Given the description of an element on the screen output the (x, y) to click on. 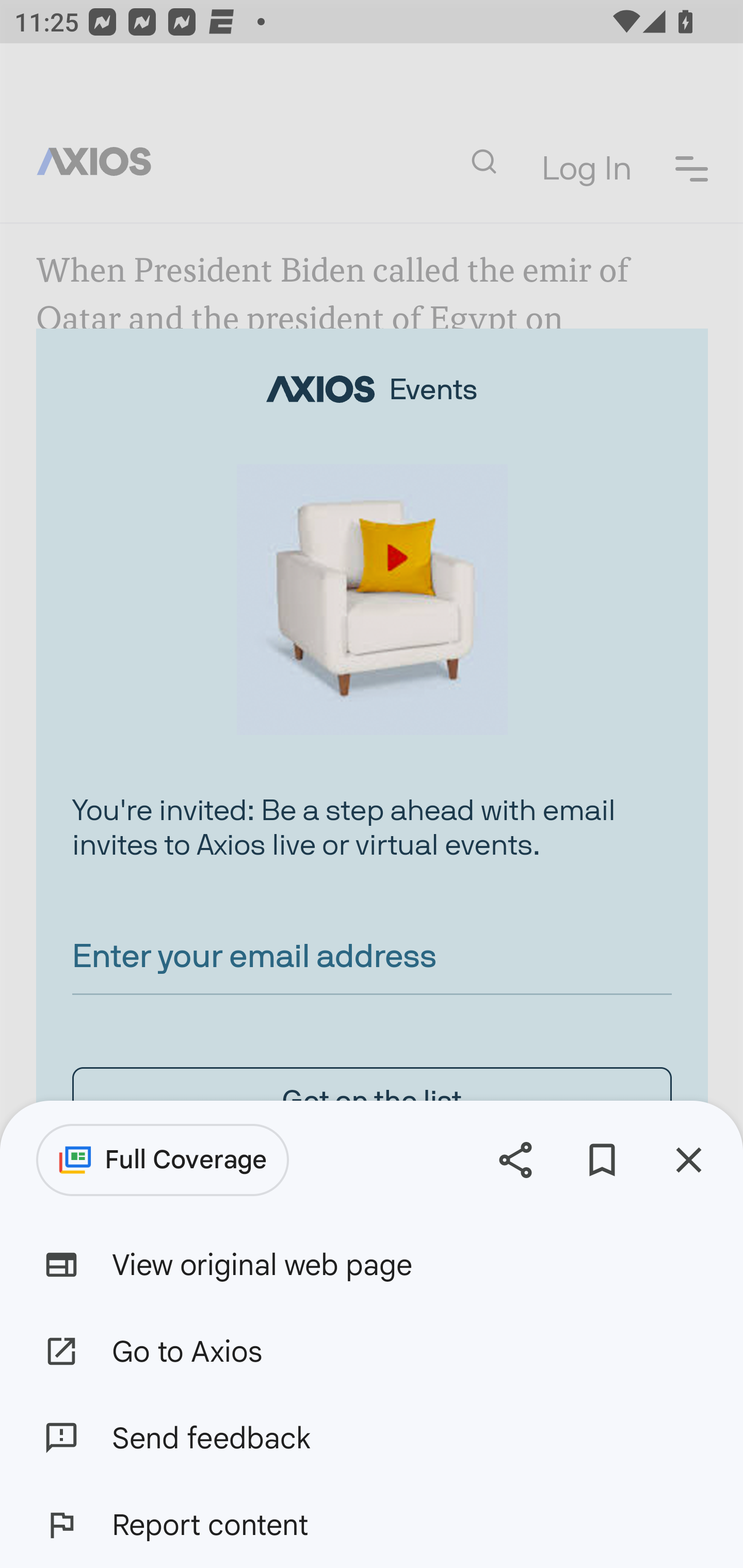
Axios Homepage (101, 161)
Search Page (482, 161)
Log In (586, 169)
Section Menu (692, 168)
Share (514, 1159)
Save for later (601, 1159)
Close (688, 1159)
Full Coverage (162, 1160)
View original web page (371, 1264)
Go to Axios (371, 1350)
Send feedback (371, 1437)
Report content (371, 1524)
